Given the description of an element on the screen output the (x, y) to click on. 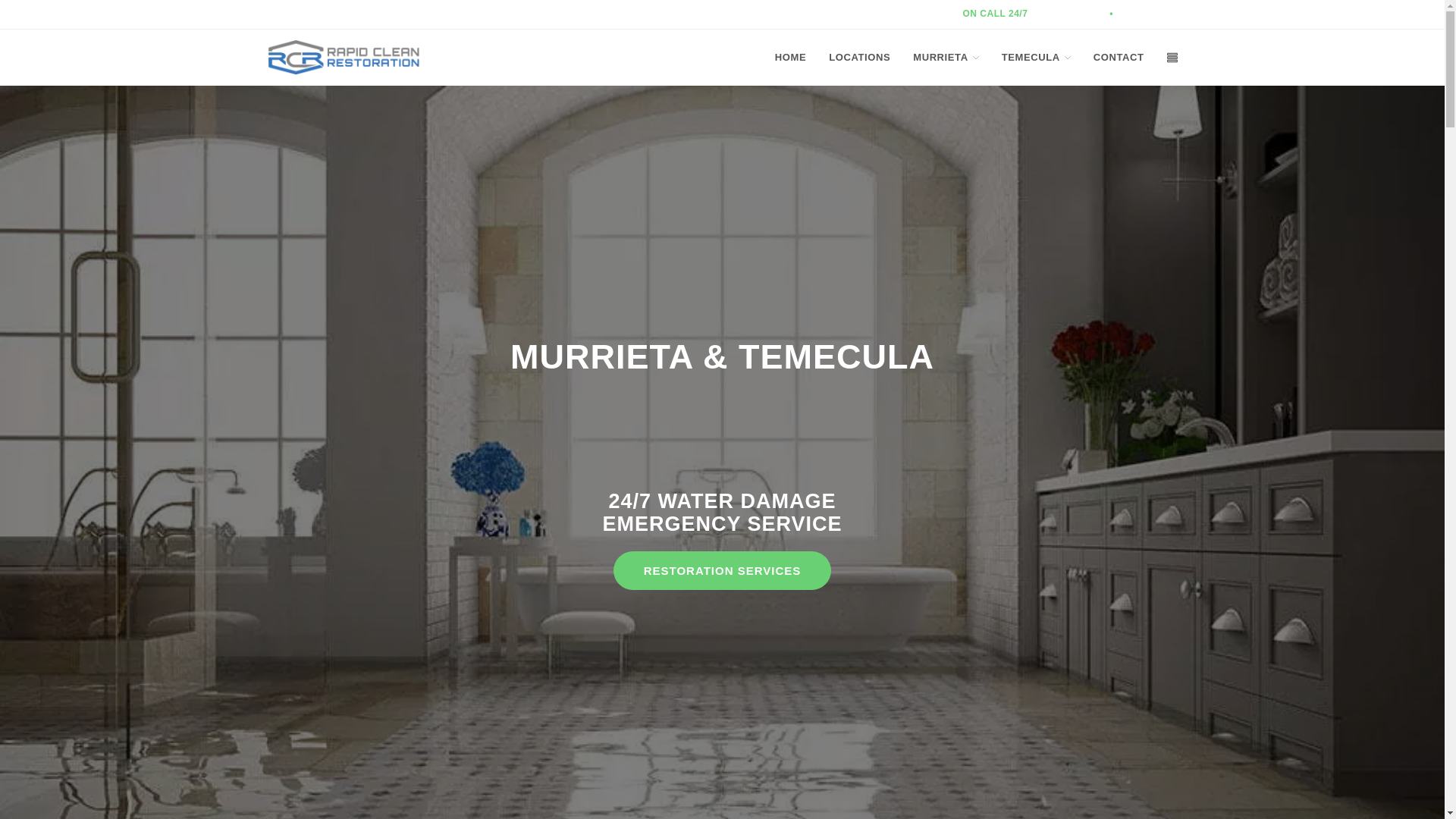
CONTACT (1118, 57)
877-553-5663 (1146, 13)
TEMECULA (1035, 57)
LOCATIONS (858, 57)
RESTORATION SERVICES (721, 570)
MURRIETA (945, 57)
HOME (789, 57)
877-55-FLOOD (1072, 13)
